Given the description of an element on the screen output the (x, y) to click on. 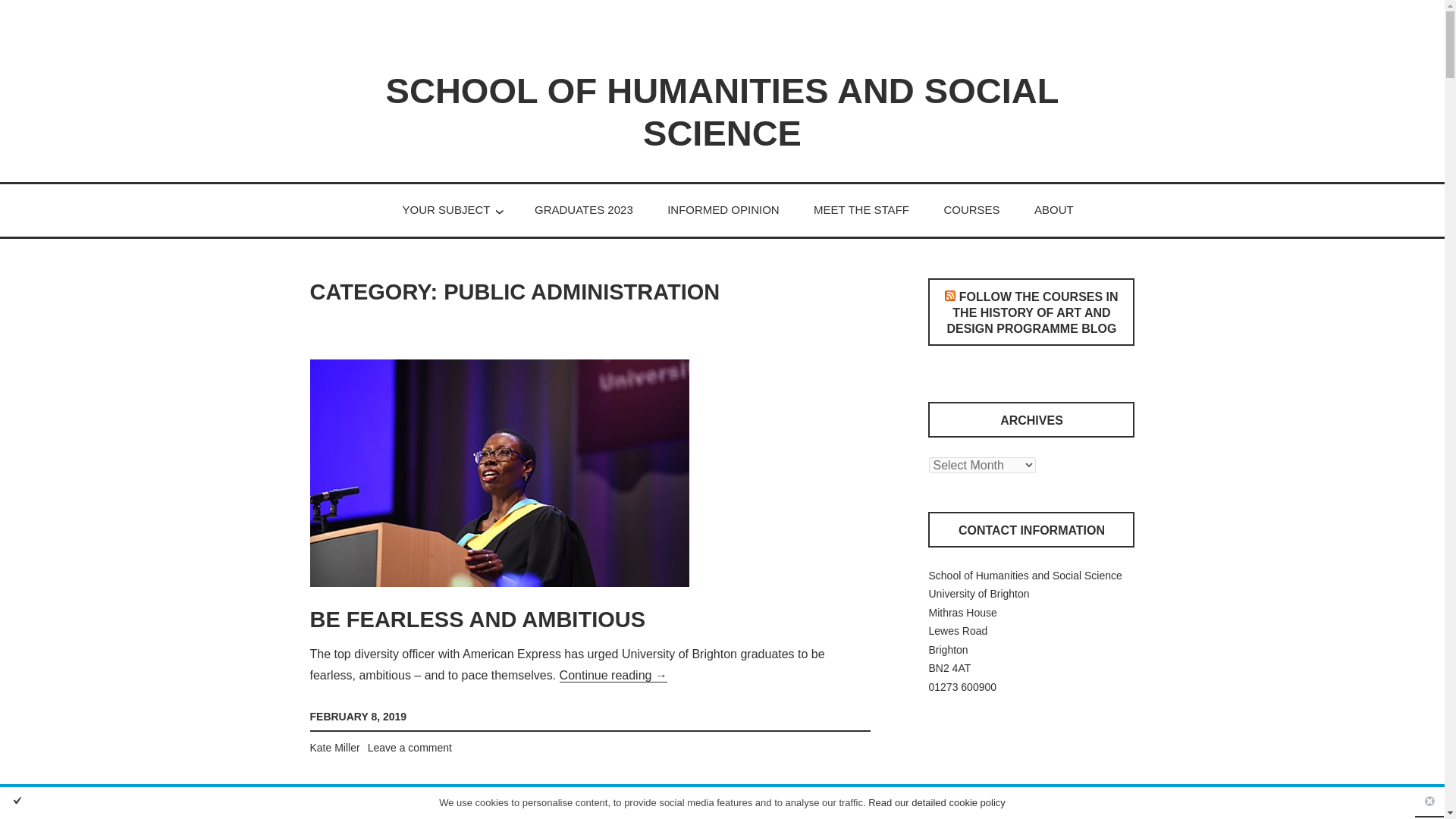
GRADUATES 2023 (583, 209)
Kate Miller (333, 747)
Search (242, 46)
SCHOOL OF HUMANITIES AND SOCIAL SCIENCE (722, 111)
Search (242, 46)
YOUR SUBJECT (446, 209)
MEET THE STAFF (860, 209)
Leave a comment (409, 747)
COURSES (970, 209)
FEBRUARY 8, 2019 (357, 716)
